Given the description of an element on the screen output the (x, y) to click on. 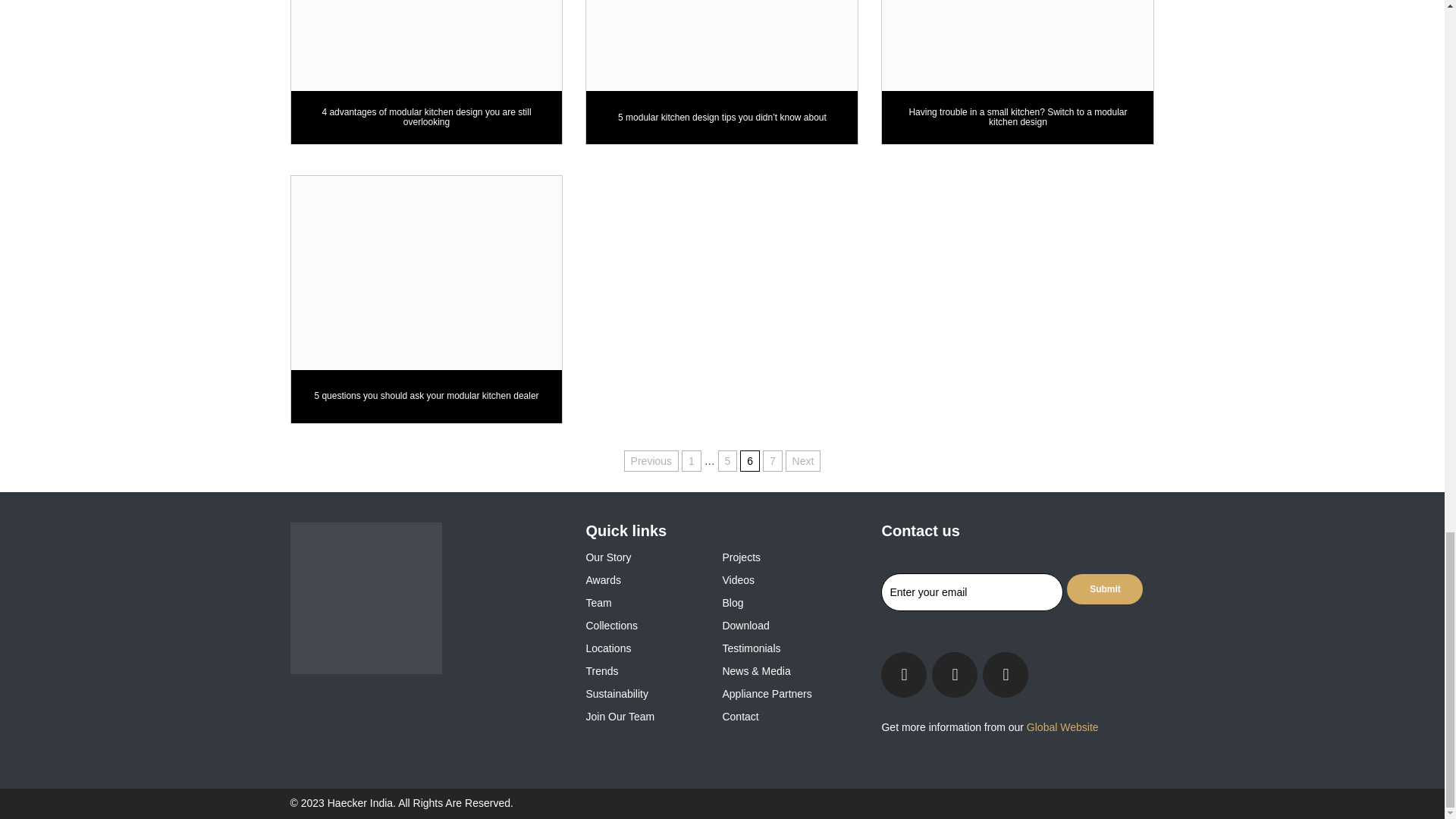
Submit (1104, 589)
